Given the description of an element on the screen output the (x, y) to click on. 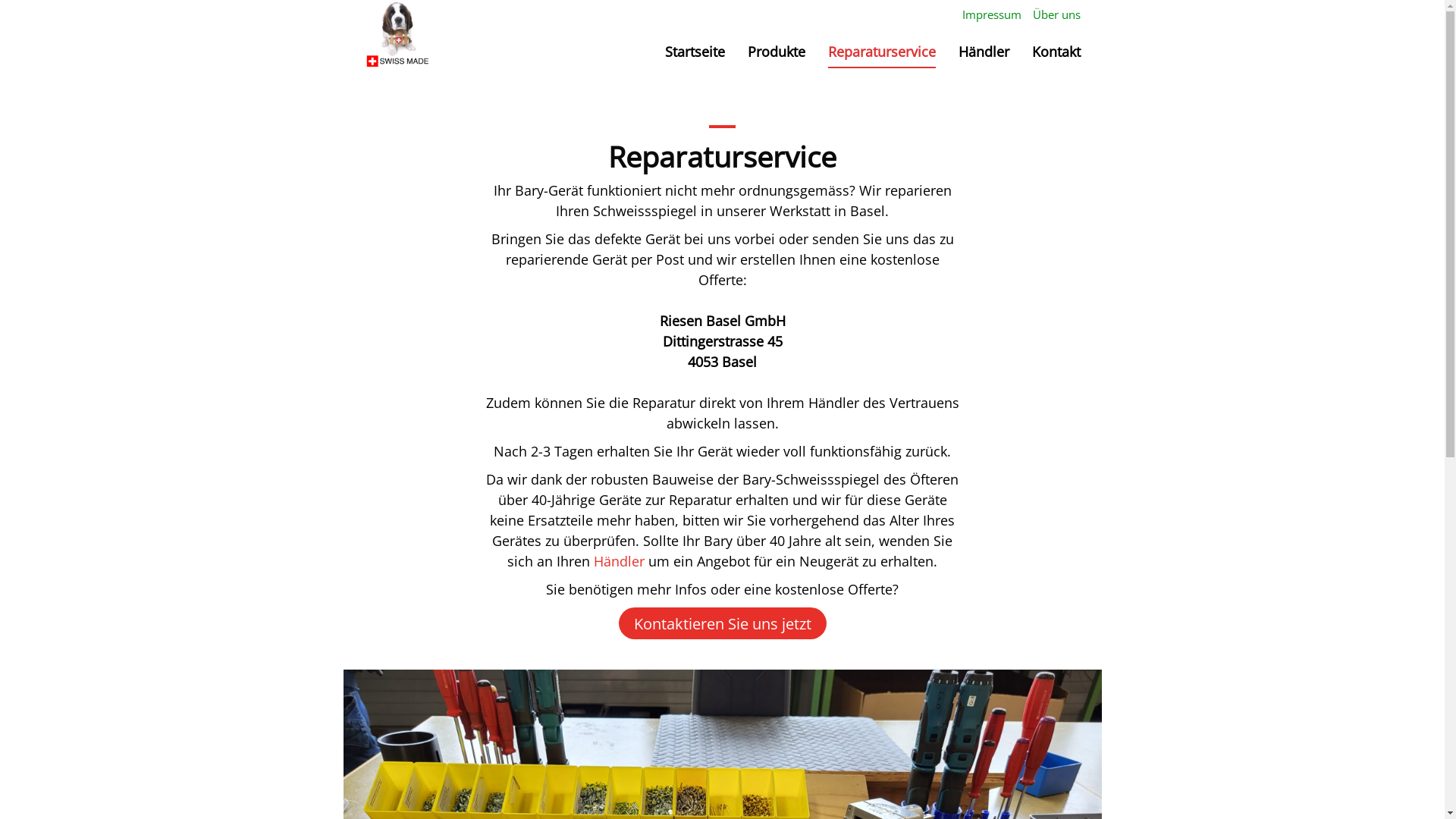
Startseite Element type: text (694, 51)
Impressum Element type: text (991, 13)
Kontakt Element type: text (1056, 51)
Produkte Element type: text (776, 51)
Kontaktieren Sie uns jetzt Element type: text (722, 623)
Reparaturservice Element type: text (881, 51)
